Given the description of an element on the screen output the (x, y) to click on. 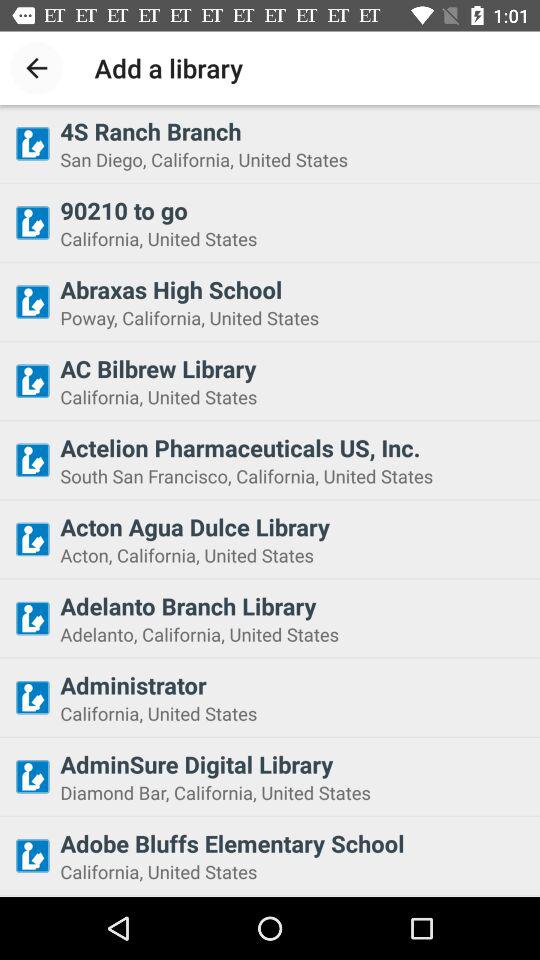
swipe until the actelion pharmaceuticals us (294, 447)
